Given the description of an element on the screen output the (x, y) to click on. 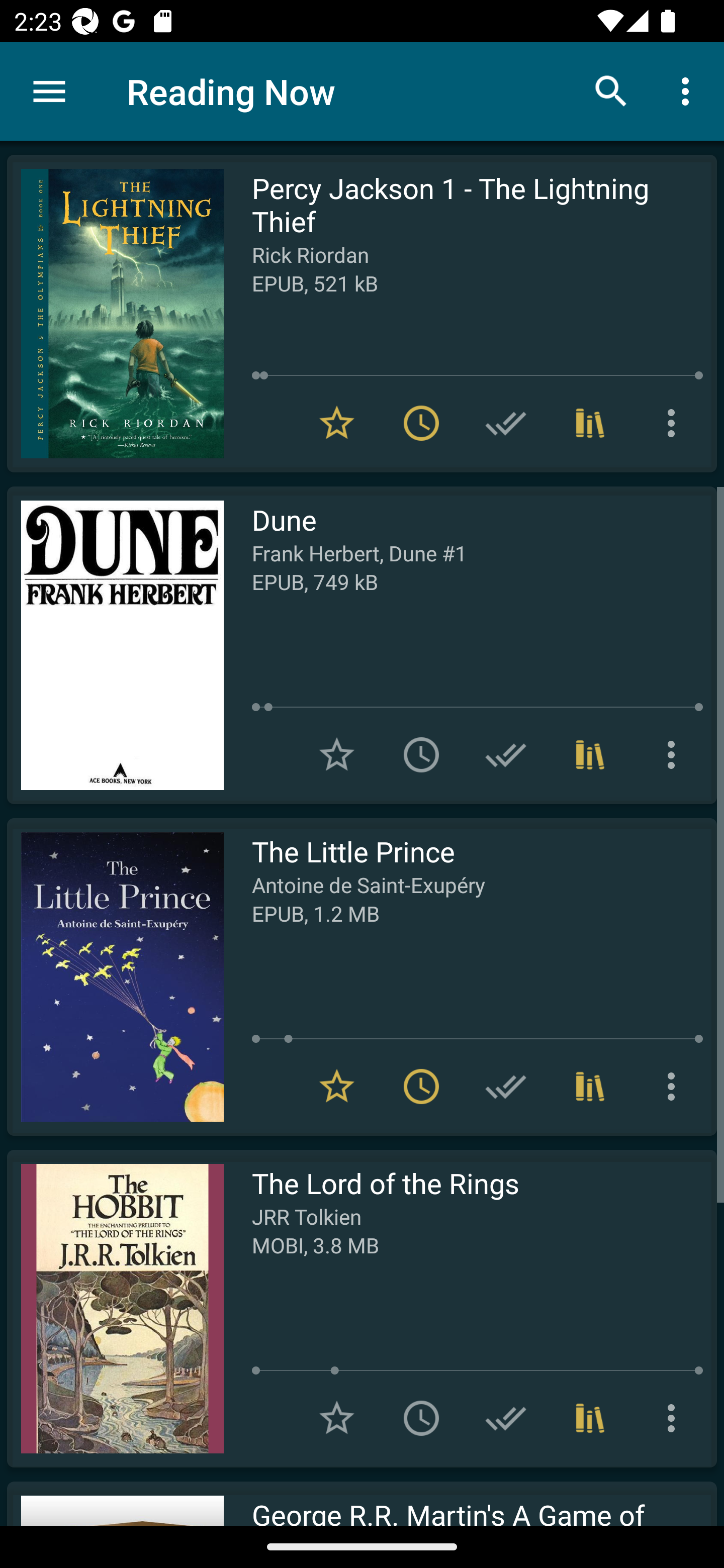
Menu (49, 91)
Search books & documents (611, 90)
More options (688, 90)
Read Percy Jackson 1 - The Lightning Thief (115, 313)
Remove from Favorites (336, 423)
Remove from To read (421, 423)
Add to Have read (505, 423)
Collections (1) (590, 423)
More options (674, 423)
Read Dune (115, 645)
Add to Favorites (336, 753)
Add to To read (421, 753)
Add to Have read (505, 753)
Collections (1) (590, 753)
More options (674, 753)
Read The Little Prince (115, 976)
Remove from Favorites (336, 1086)
Remove from To read (421, 1086)
Add to Have read (505, 1086)
Collections (1) (590, 1086)
More options (674, 1086)
Read The Lord of the Rings (115, 1308)
Add to Favorites (336, 1417)
Add to To read (421, 1417)
Add to Have read (505, 1417)
Collections (1) (590, 1417)
More options (674, 1417)
